Given the description of an element on the screen output the (x, y) to click on. 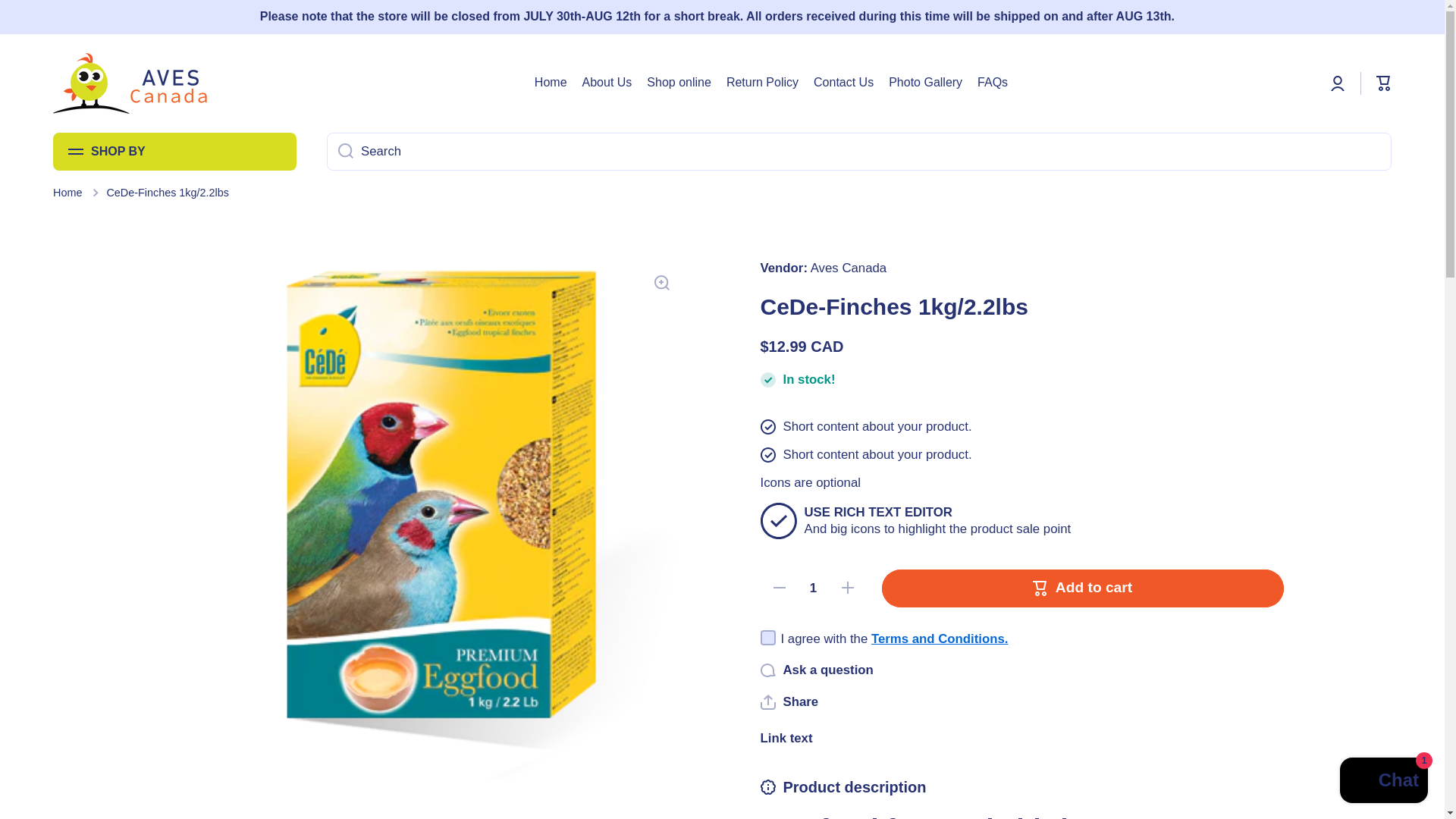
on (767, 637)
1 (813, 588)
Shopify online store chat (1383, 781)
